Given the description of an element on the screen output the (x, y) to click on. 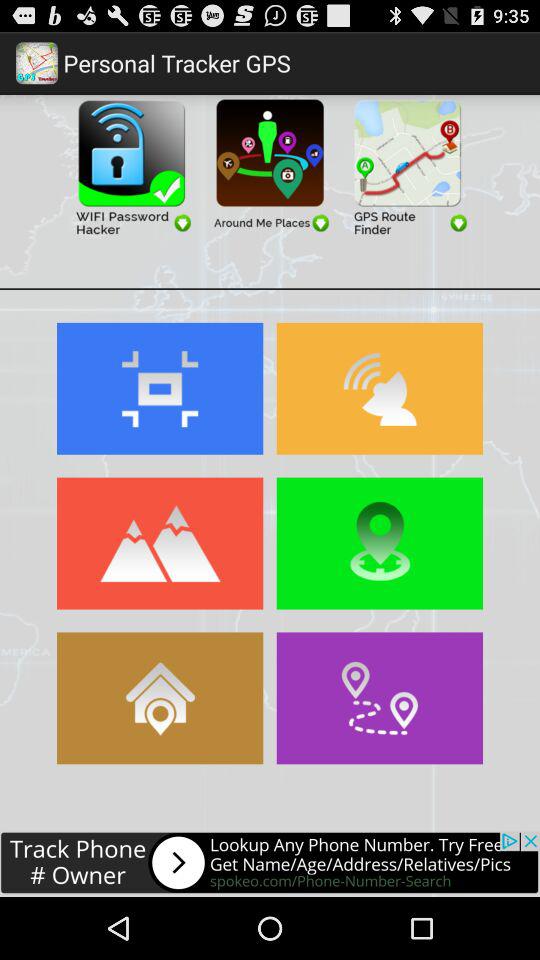
home button (160, 698)
